Given the description of an element on the screen output the (x, y) to click on. 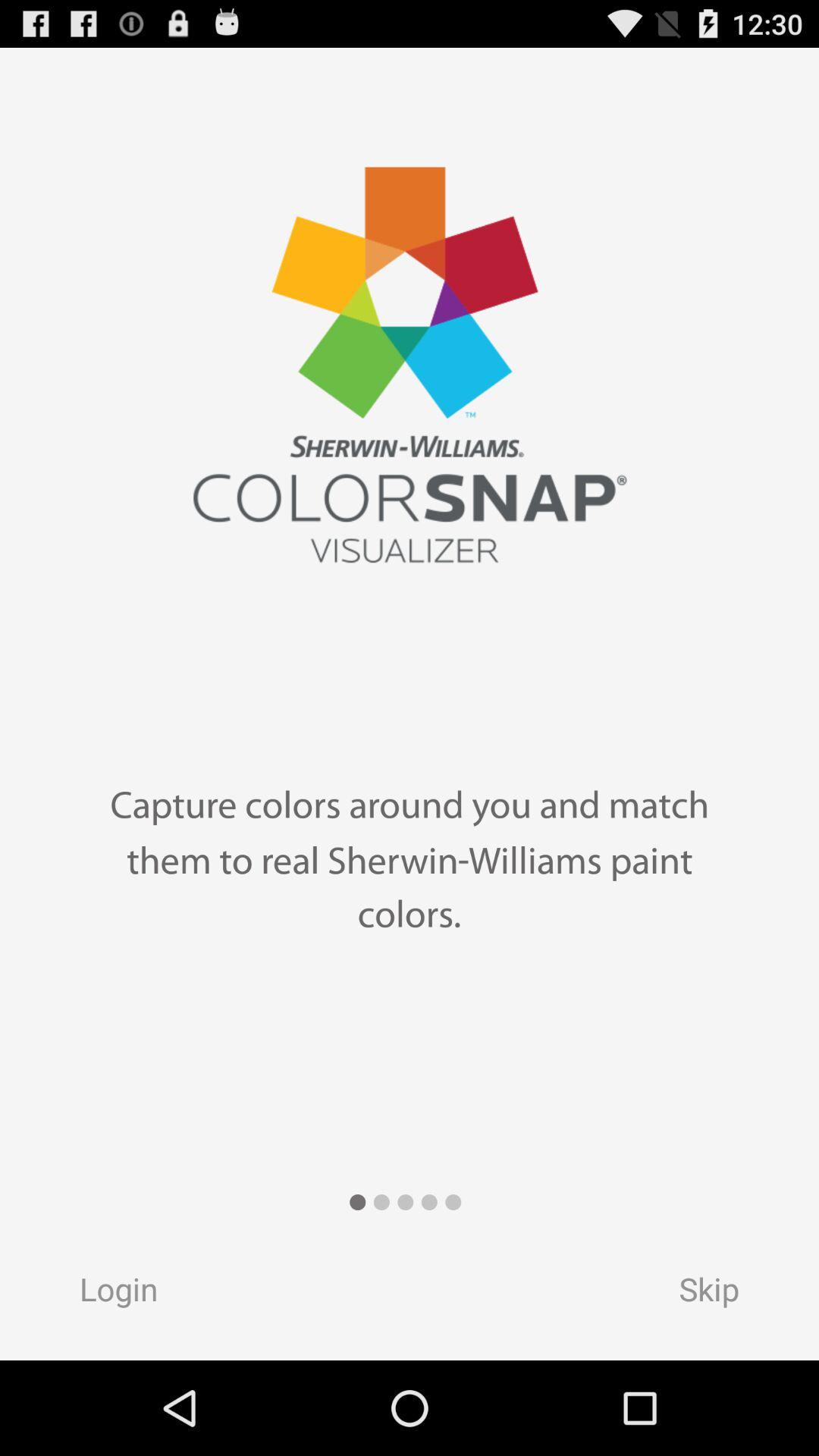
choose the icon to the left of skip item (104, 1293)
